Given the description of an element on the screen output the (x, y) to click on. 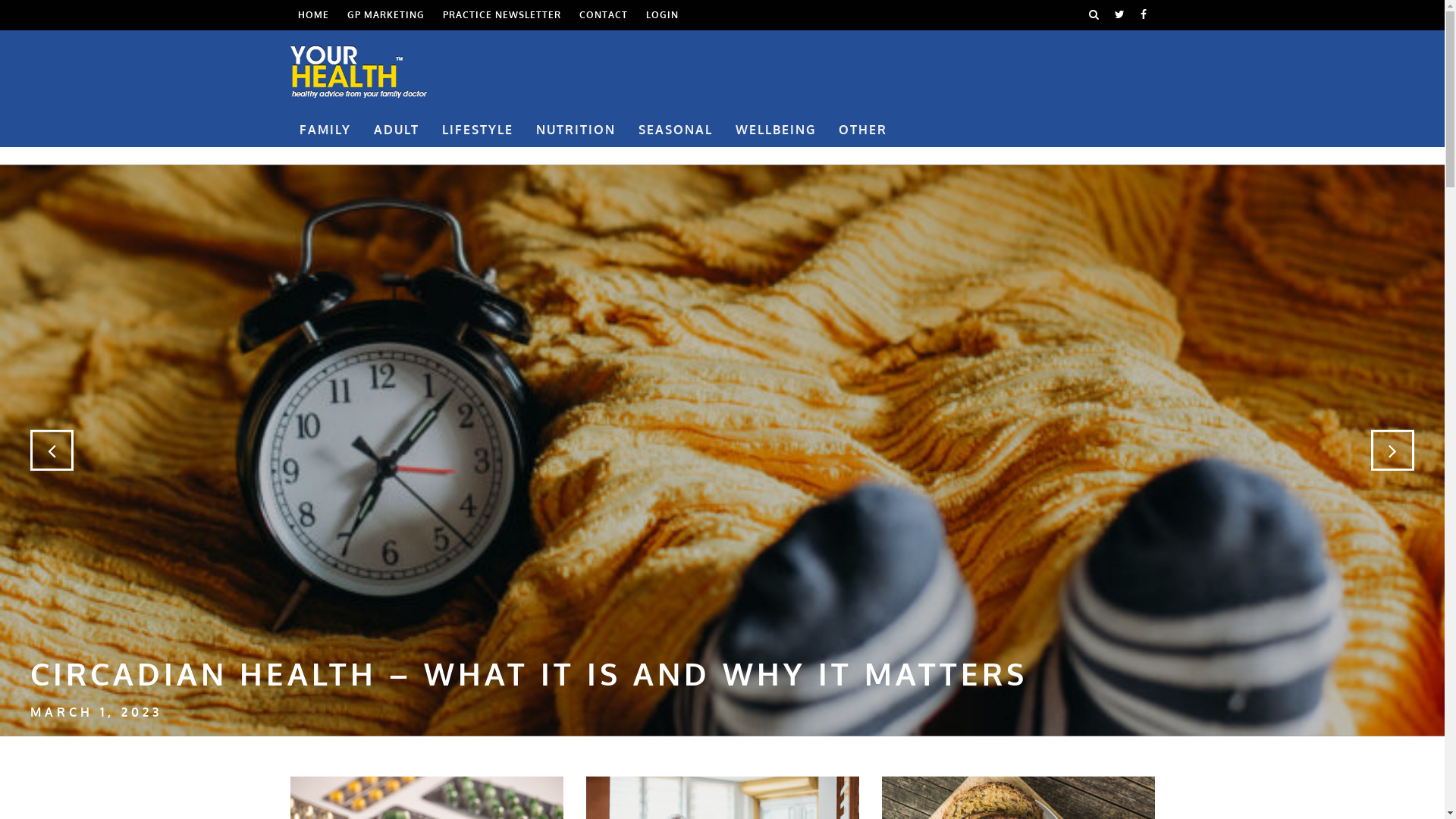
FAMILY Element type: text (324, 129)
NUTRITION Element type: text (575, 129)
SEASONAL Element type: text (675, 129)
LOGIN Element type: text (662, 15)
HOME Element type: text (312, 15)
PRACTICE NEWSLETTER Element type: text (501, 15)
Search Element type: hover (1093, 15)
OTHER Element type: text (862, 129)
GP MARKETING Element type: text (385, 15)
ADULT Element type: text (395, 129)
LIFESTYLE Element type: text (476, 129)
CONTACT Element type: text (603, 15)
WELLBEING Element type: text (775, 129)
